Given the description of an element on the screen output the (x, y) to click on. 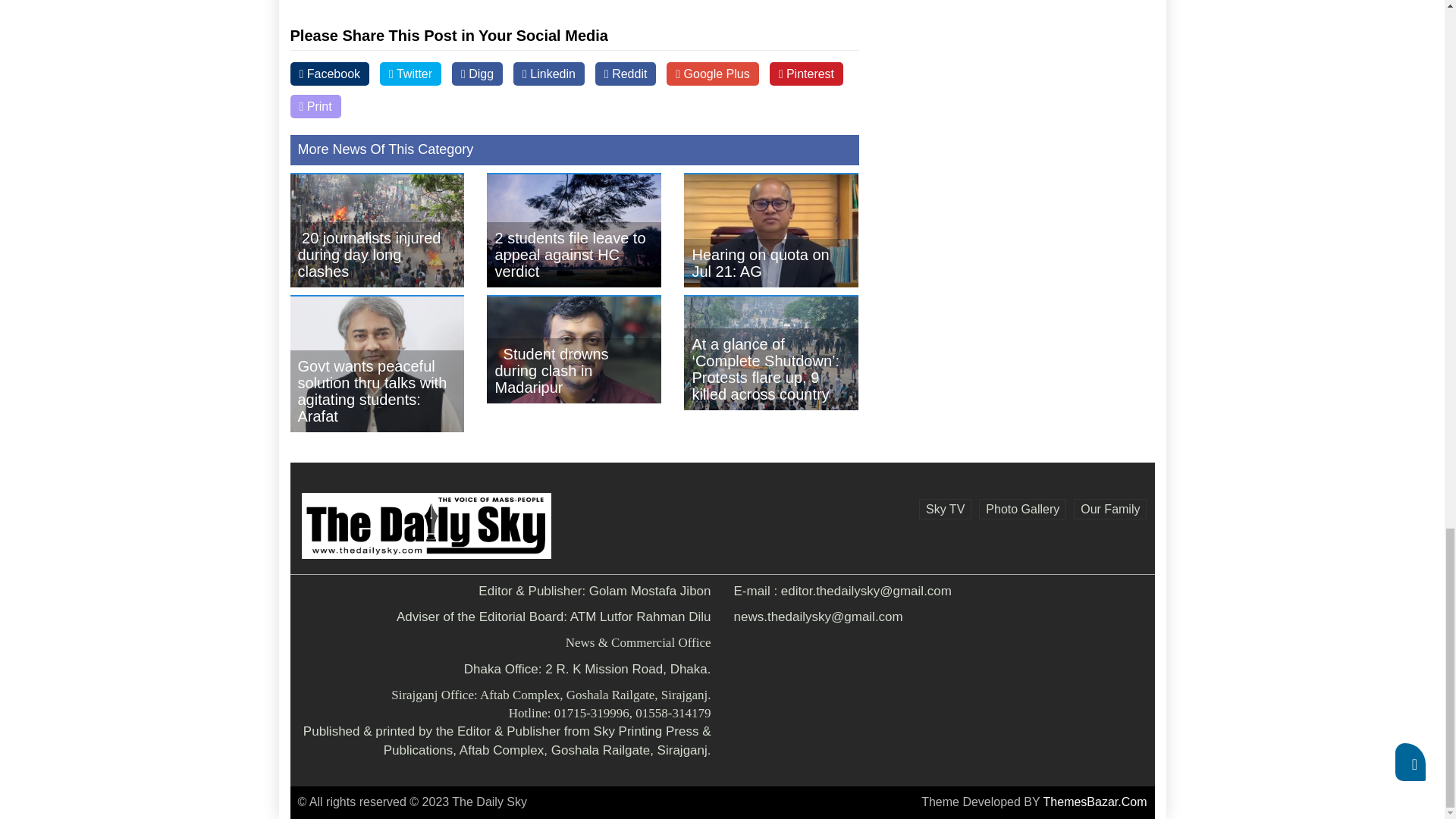
Linkedin (549, 73)
themesbazar (1095, 801)
Digg (476, 73)
Facebook (329, 73)
Twitter (410, 73)
